Given the description of an element on the screen output the (x, y) to click on. 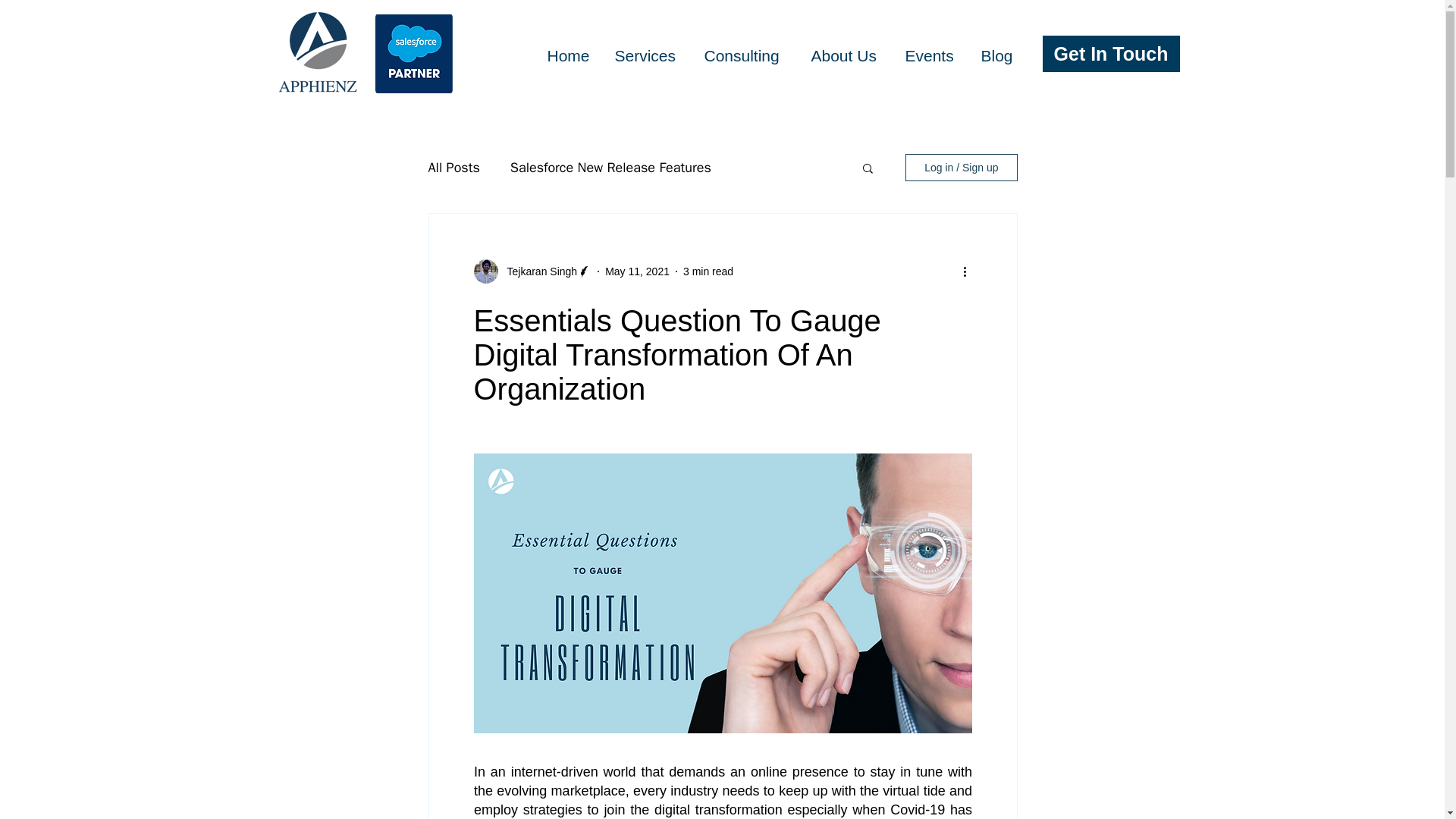
Salesforce New Release Features (611, 167)
All Posts (453, 167)
3 min read (707, 271)
Tejkaran Singh (536, 271)
About Us (846, 55)
Home (568, 55)
Events (931, 55)
Blog (998, 55)
Services (648, 55)
Get In Touch (1110, 54)
